Given the description of an element on the screen output the (x, y) to click on. 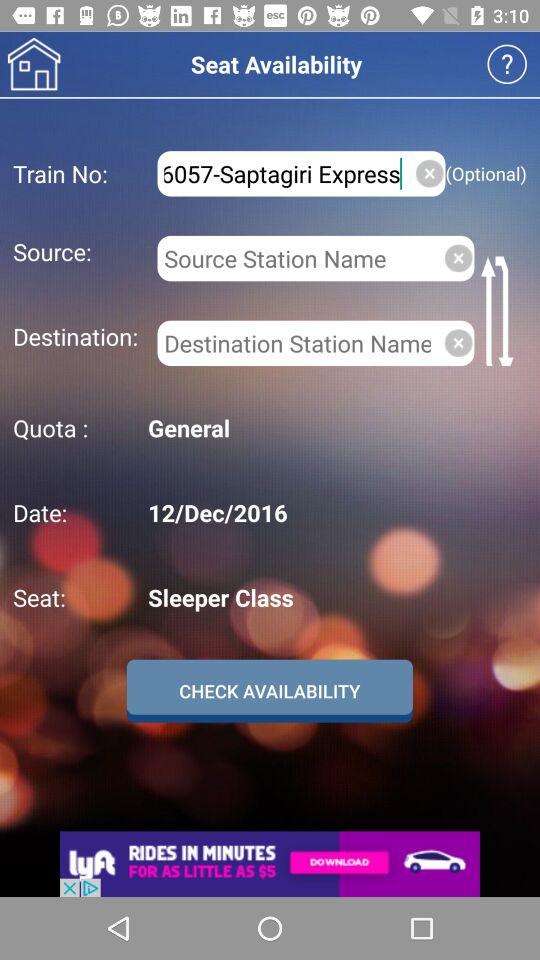
scroll to the sleeper class icon (333, 597)
